Given the description of an element on the screen output the (x, y) to click on. 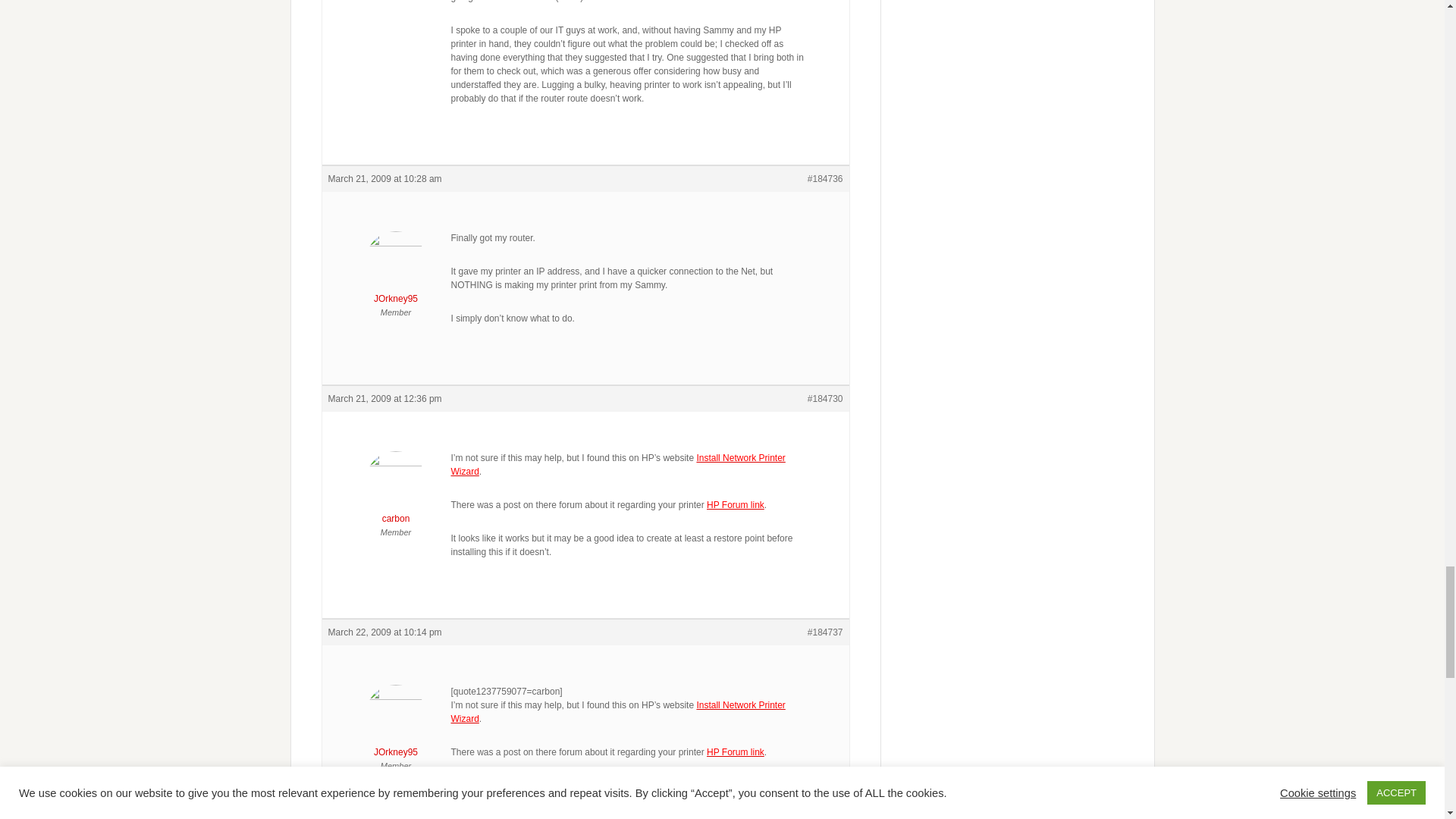
View carbon's profile (395, 491)
View JOrkney95's profile (395, 725)
View JOrkney95's profile (395, 271)
